Given the description of an element on the screen output the (x, y) to click on. 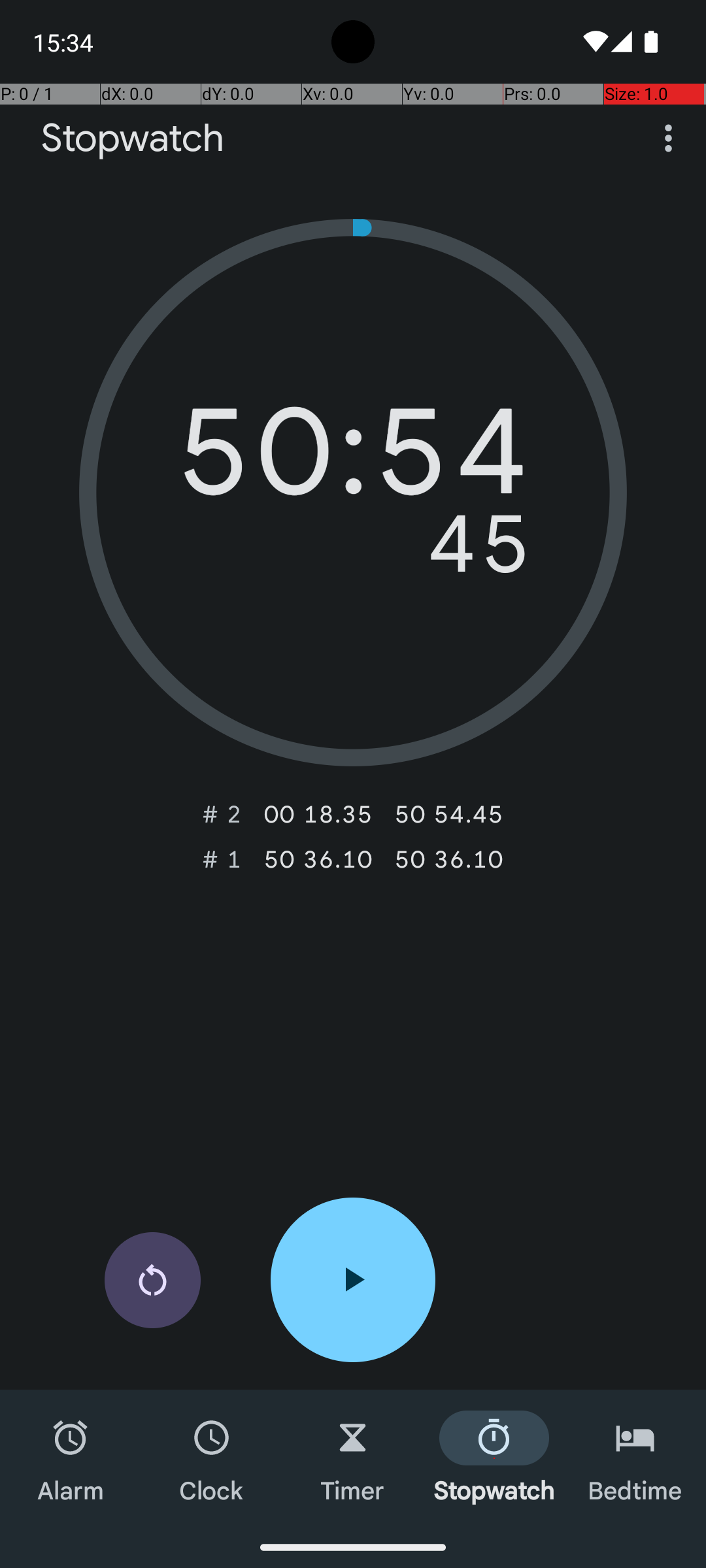
# 2 Element type: android.widget.TextView (221, 814)
00‎ 18.35 Element type: android.widget.TextView (317, 814)
50‎ 54.45 Element type: android.widget.TextView (448, 814)
# 1 Element type: android.widget.TextView (221, 859)
50‎ 36.10 Element type: android.widget.TextView (317, 859)
Wifi signal full. Element type: android.widget.FrameLayout (593, 41)
